Given the description of an element on the screen output the (x, y) to click on. 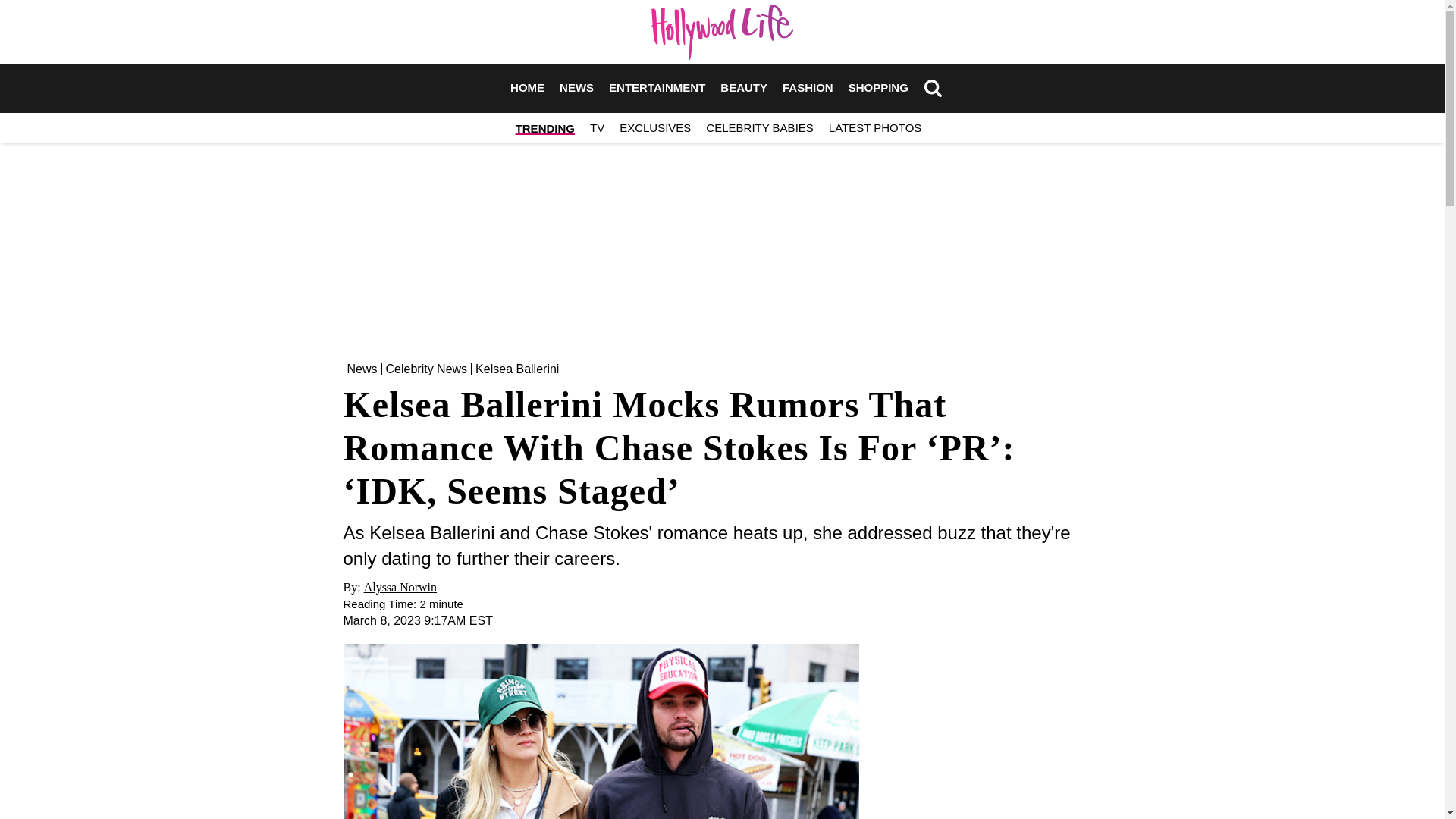
SHOPPING (878, 88)
Hollywood Life (722, 32)
Posts by Alyssa Norwin (400, 586)
BEAUTY (743, 88)
ENTERTAINMENT (656, 88)
FASHION (807, 88)
